Given the description of an element on the screen output the (x, y) to click on. 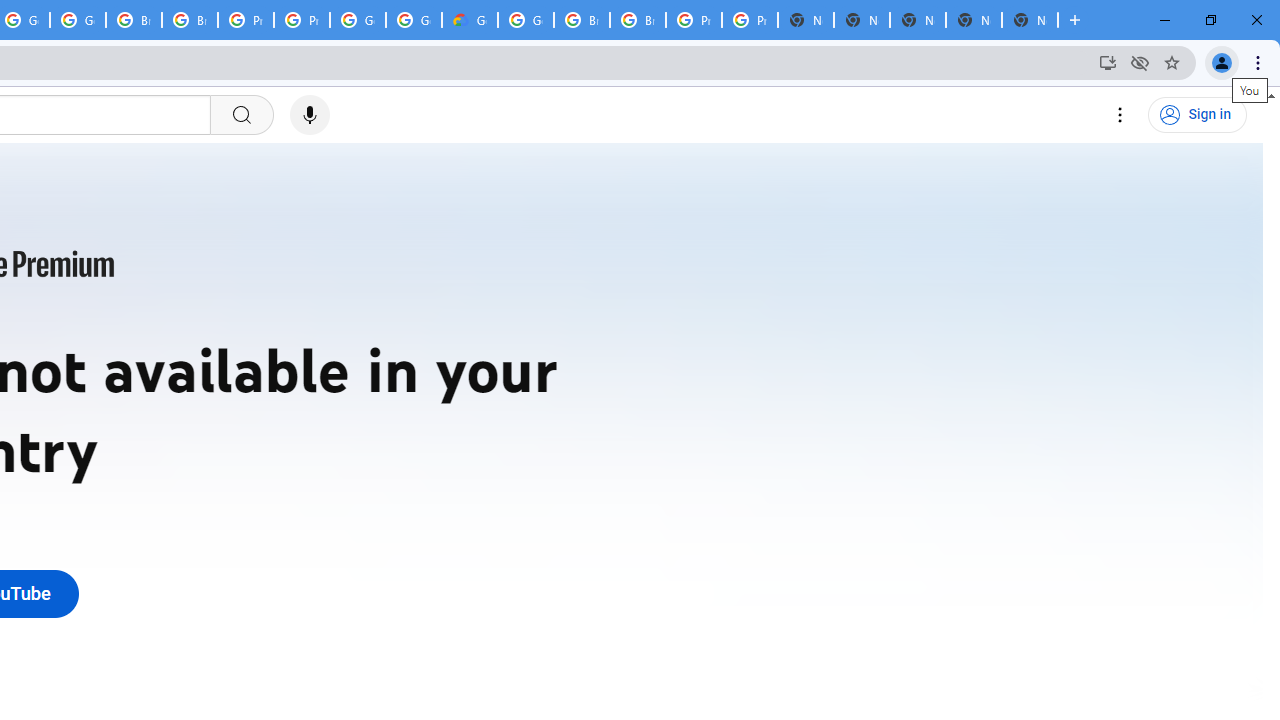
Browse Chrome as a guest - Computer - Google Chrome Help (134, 20)
Google Cloud Platform (525, 20)
New Tab (1030, 20)
Google Cloud Platform (413, 20)
Search with your voice (309, 115)
Install YouTube (1107, 62)
